Given the description of an element on the screen output the (x, y) to click on. 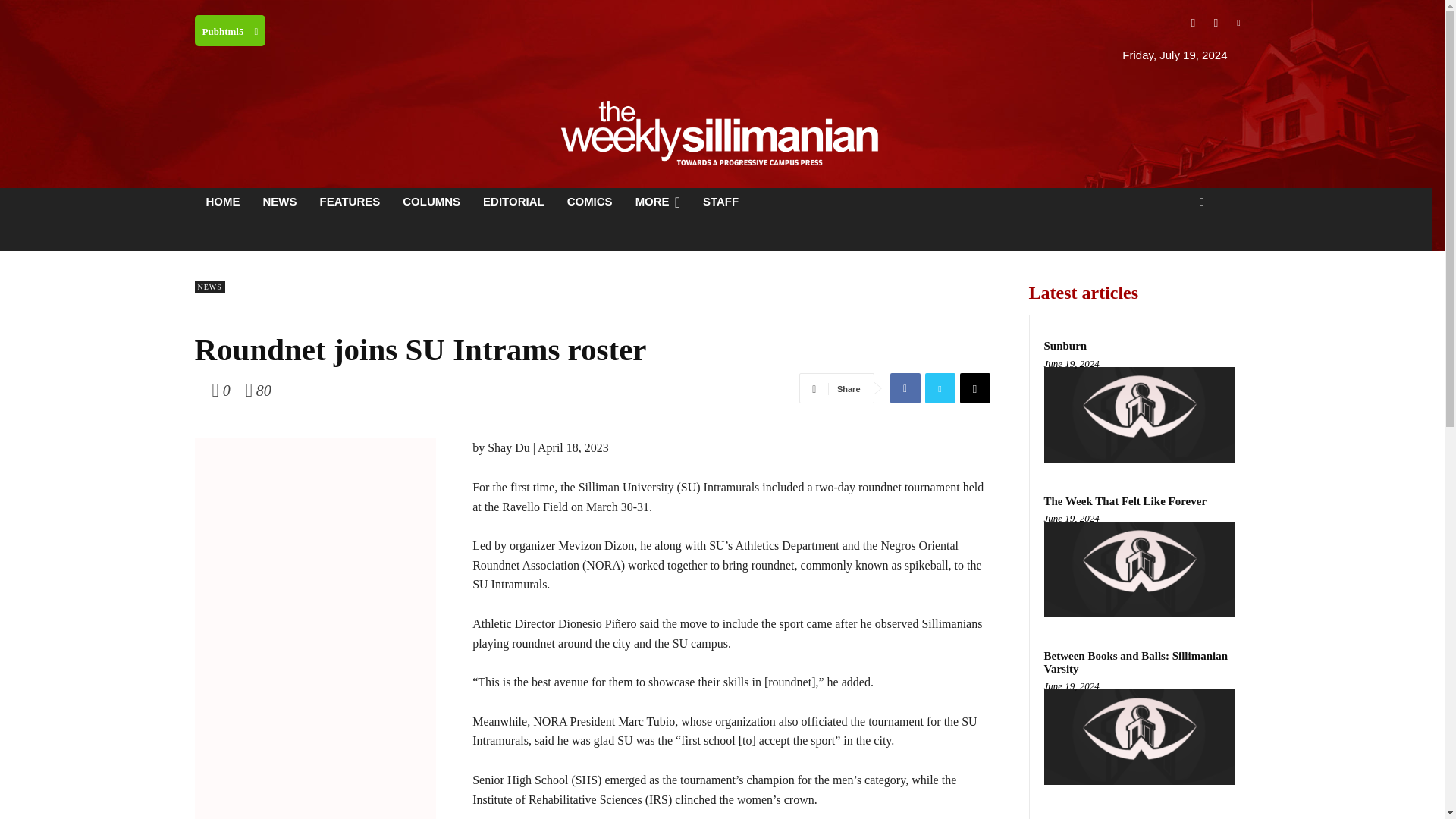
STAFF (720, 201)
FEATURES (349, 201)
HOME (221, 201)
Facebook (904, 388)
MORE (657, 201)
NEWS (279, 201)
COLUMNS (431, 201)
Instagram (1215, 22)
Facebook (1192, 22)
EDITORIAL (513, 201)
Email (974, 388)
Twitter (1238, 22)
COMICS (590, 201)
Twitter (939, 388)
Pubhtml5 (228, 30)
